Given the description of an element on the screen output the (x, y) to click on. 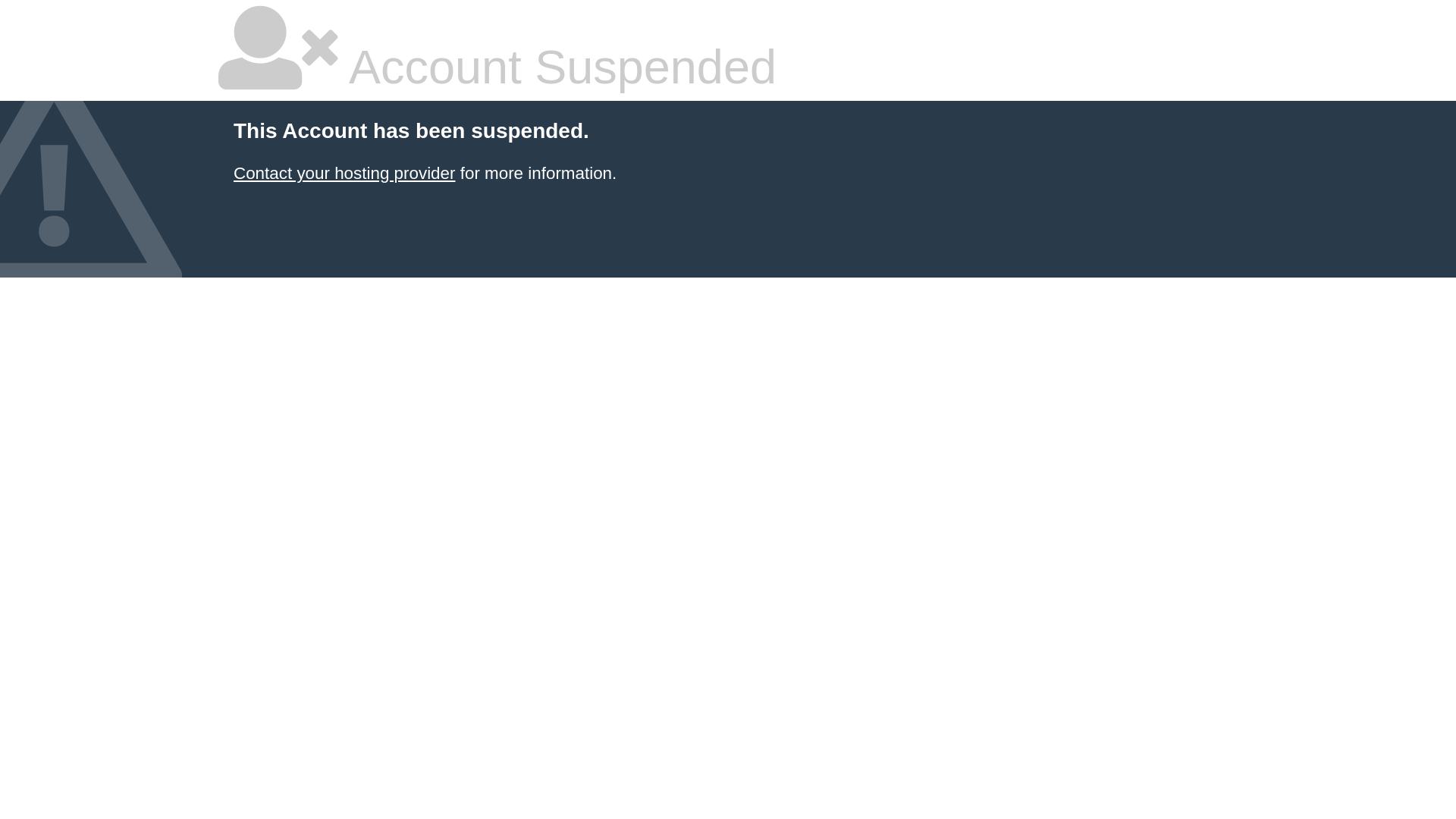
Contact your hosting provider Element type: text (344, 172)
